Given the description of an element on the screen output the (x, y) to click on. 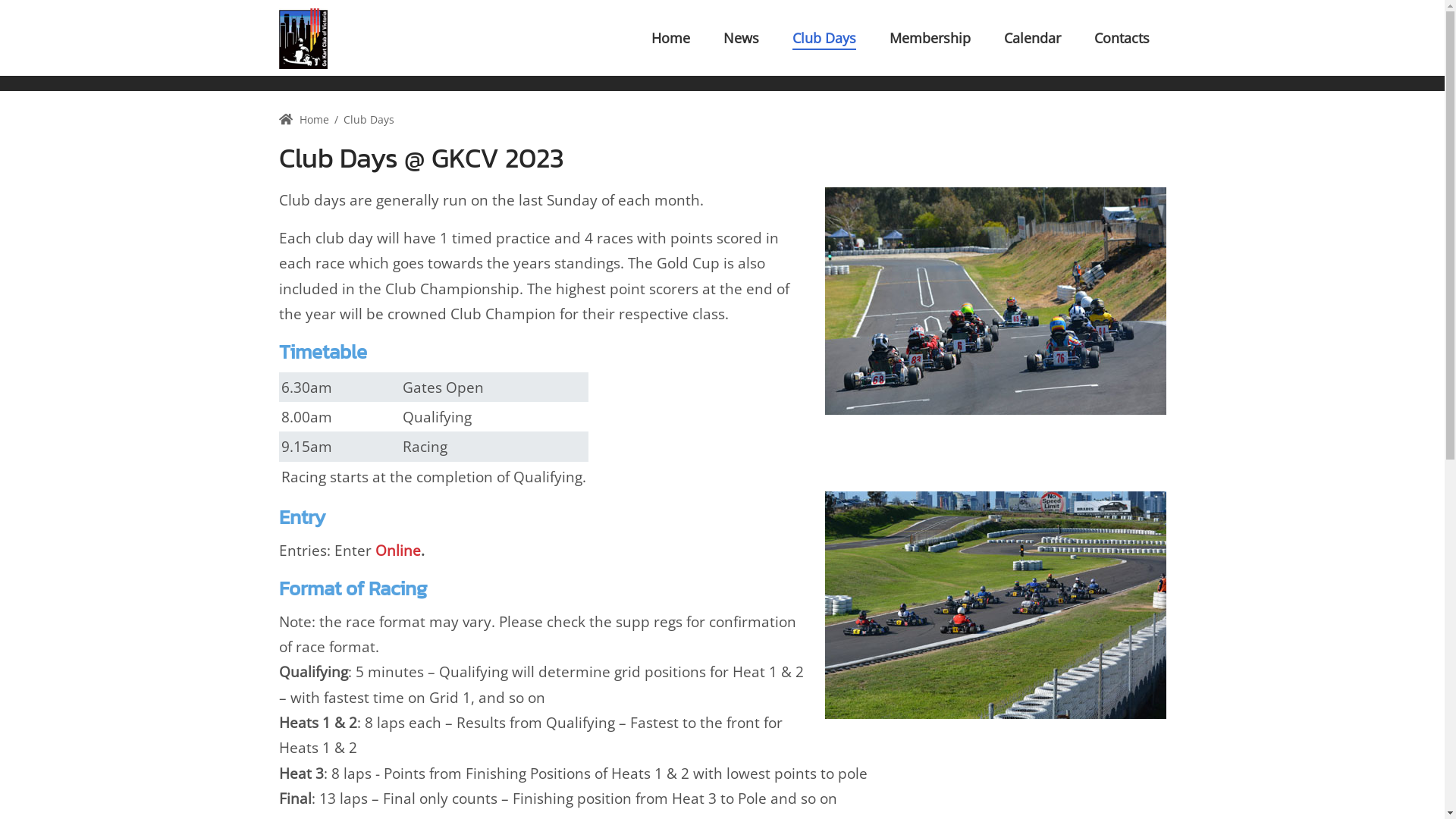
Home Element type: text (304, 119)
Club Days Element type: text (368, 119)
Contacts Element type: text (1120, 38)
Online Element type: text (397, 549)
News Element type: text (740, 38)
Club Days Element type: text (823, 38)
Membership Element type: text (929, 38)
Calendar Element type: text (1032, 38)
GKCV Element type: hover (303, 37)
Home Element type: text (669, 38)
